Given the description of an element on the screen output the (x, y) to click on. 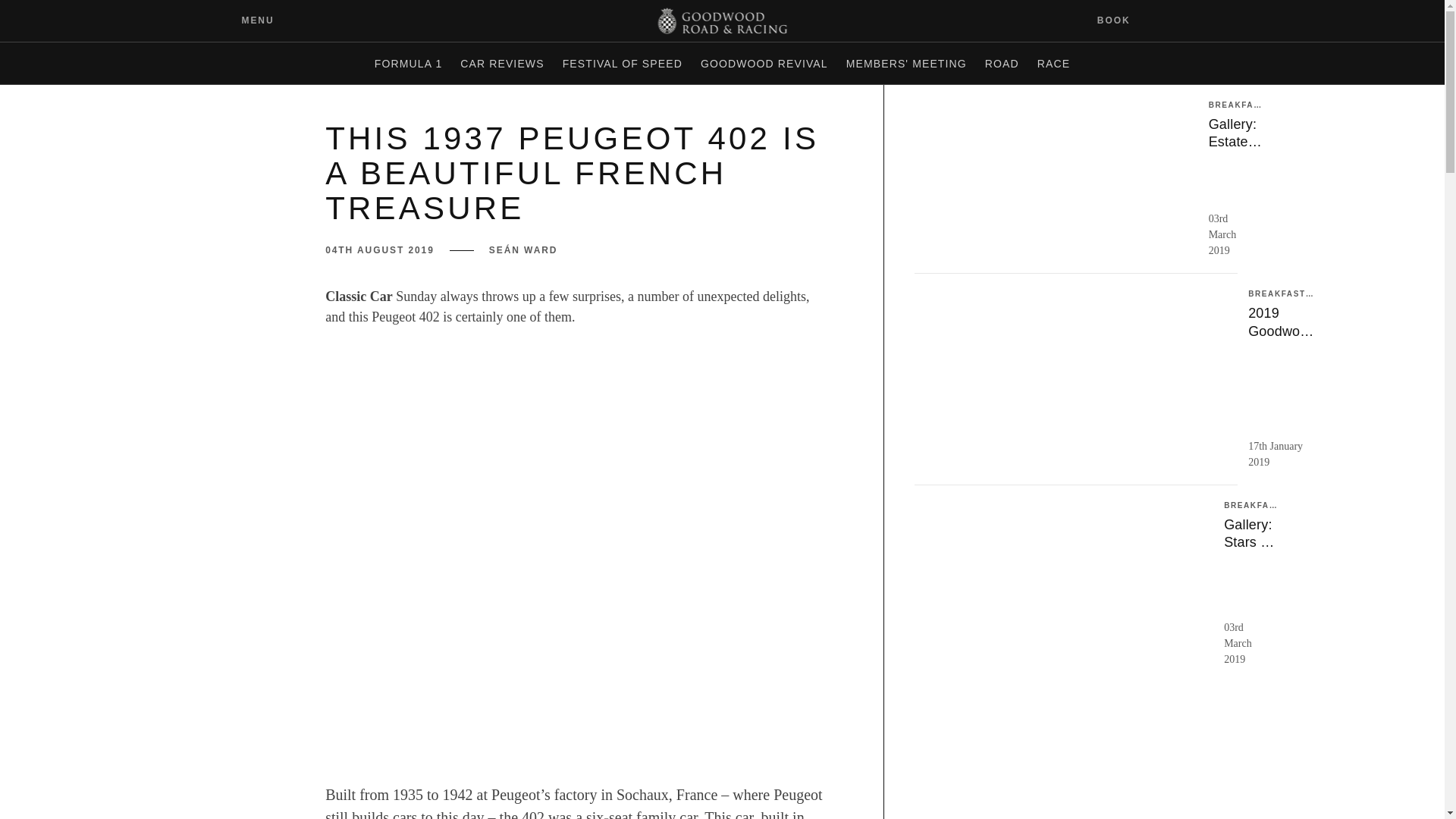
FORMULA 1 (408, 63)
BOOK (1122, 20)
MEMBERS' MEETING (906, 63)
ROAD (1001, 63)
GOODWOOD REVIVAL (764, 63)
MENU (246, 20)
FESTIVAL OF SPEED (622, 63)
RACE (1053, 63)
CAR REVIEWS (502, 63)
